Given the description of an element on the screen output the (x, y) to click on. 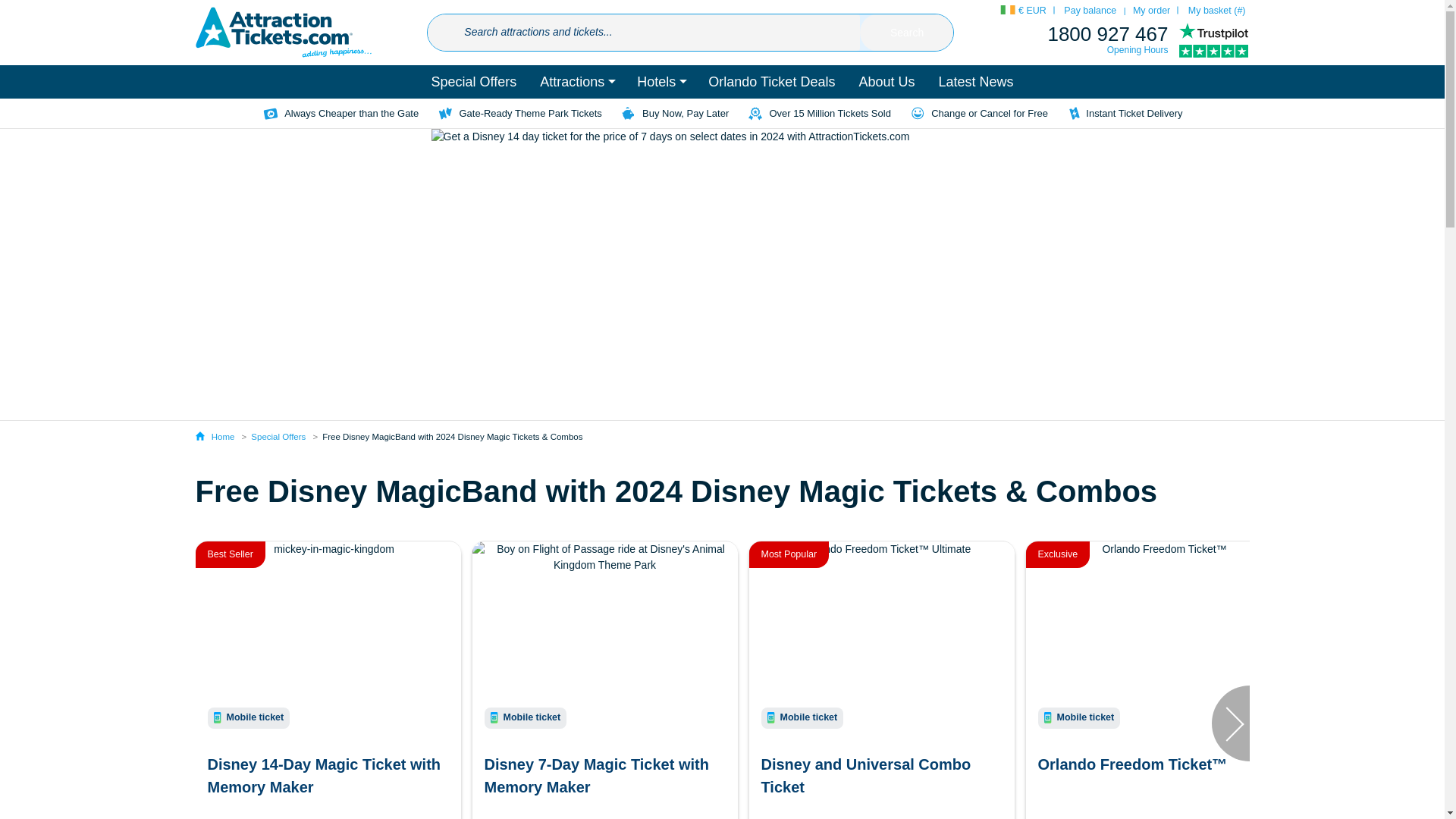
Search (906, 32)
Search (906, 32)
Orlando Ticket Deals (771, 81)
Attractions (576, 81)
Hotels (660, 81)
Search (906, 32)
Special Offers (472, 81)
1800 927 467 (1106, 34)
